Given the description of an element on the screen output the (x, y) to click on. 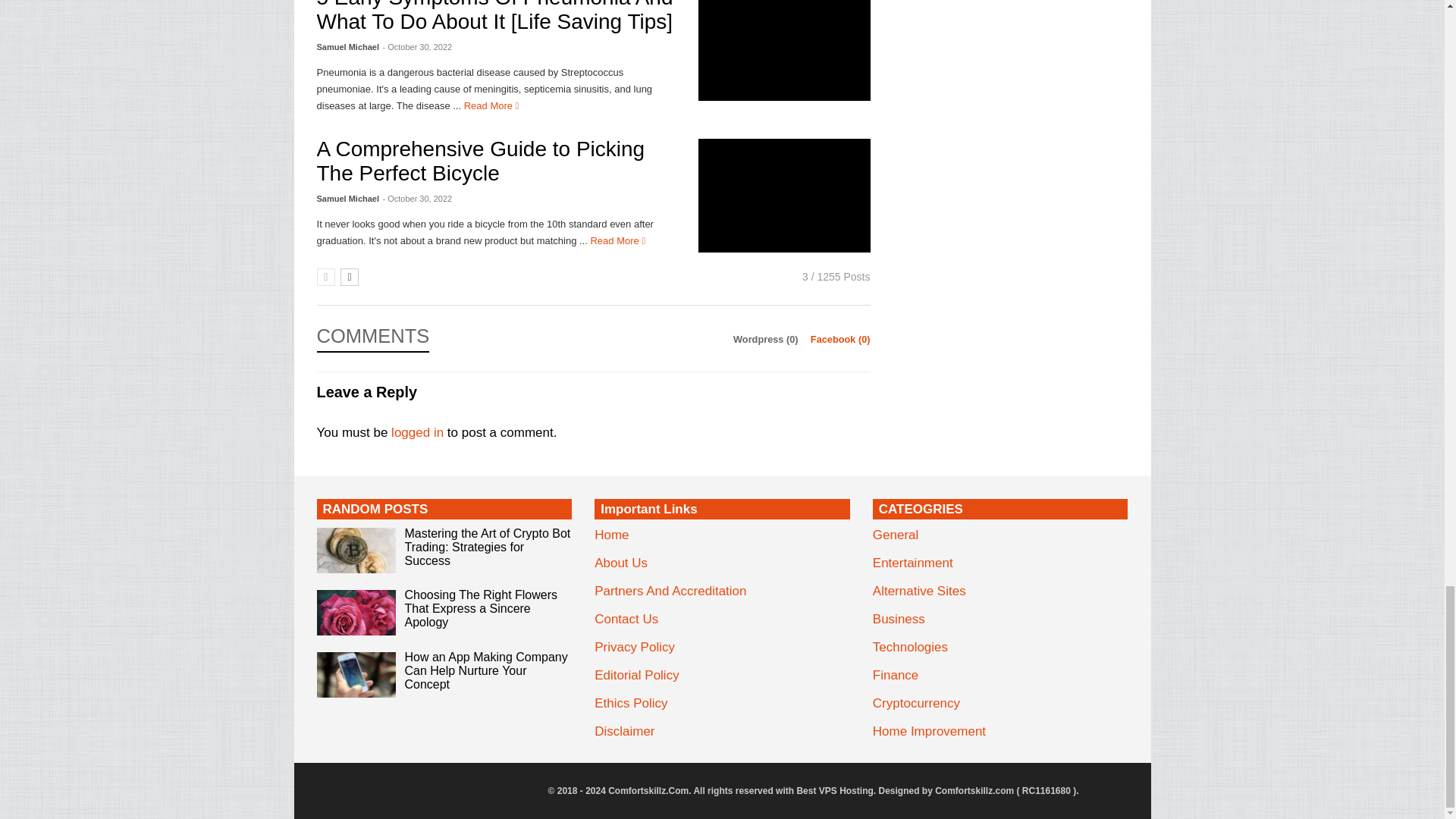
A Comprehensive Guide to Picking The Perfect Bicycle (783, 195)
A Comprehensive Guide to Picking The Perfect Bicycle (481, 161)
